Given the description of an element on the screen output the (x, y) to click on. 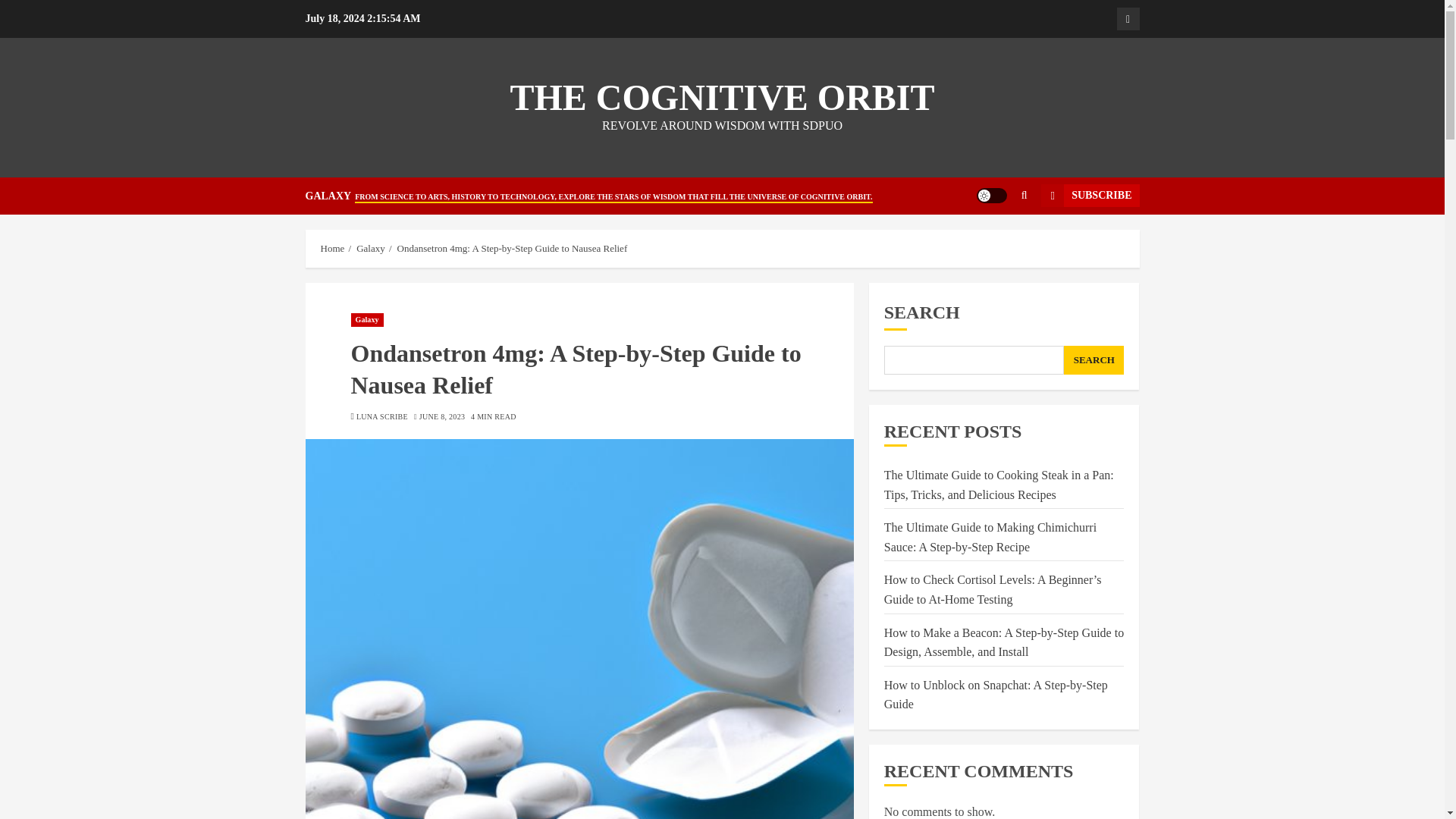
Home (331, 248)
Search (994, 241)
SEARCH (1094, 359)
LUNA SCRIBE (381, 416)
Ondansetron 4mg: A Step-by-Step Guide to Nausea Relief (512, 248)
Galaxy (1127, 18)
Galaxy (366, 319)
SUBSCRIBE (1089, 195)
JUNE 8, 2023 (442, 416)
Search (1023, 194)
How to Unblock on Snapchat: A Step-by-Step Guide (995, 694)
